Given the description of an element on the screen output the (x, y) to click on. 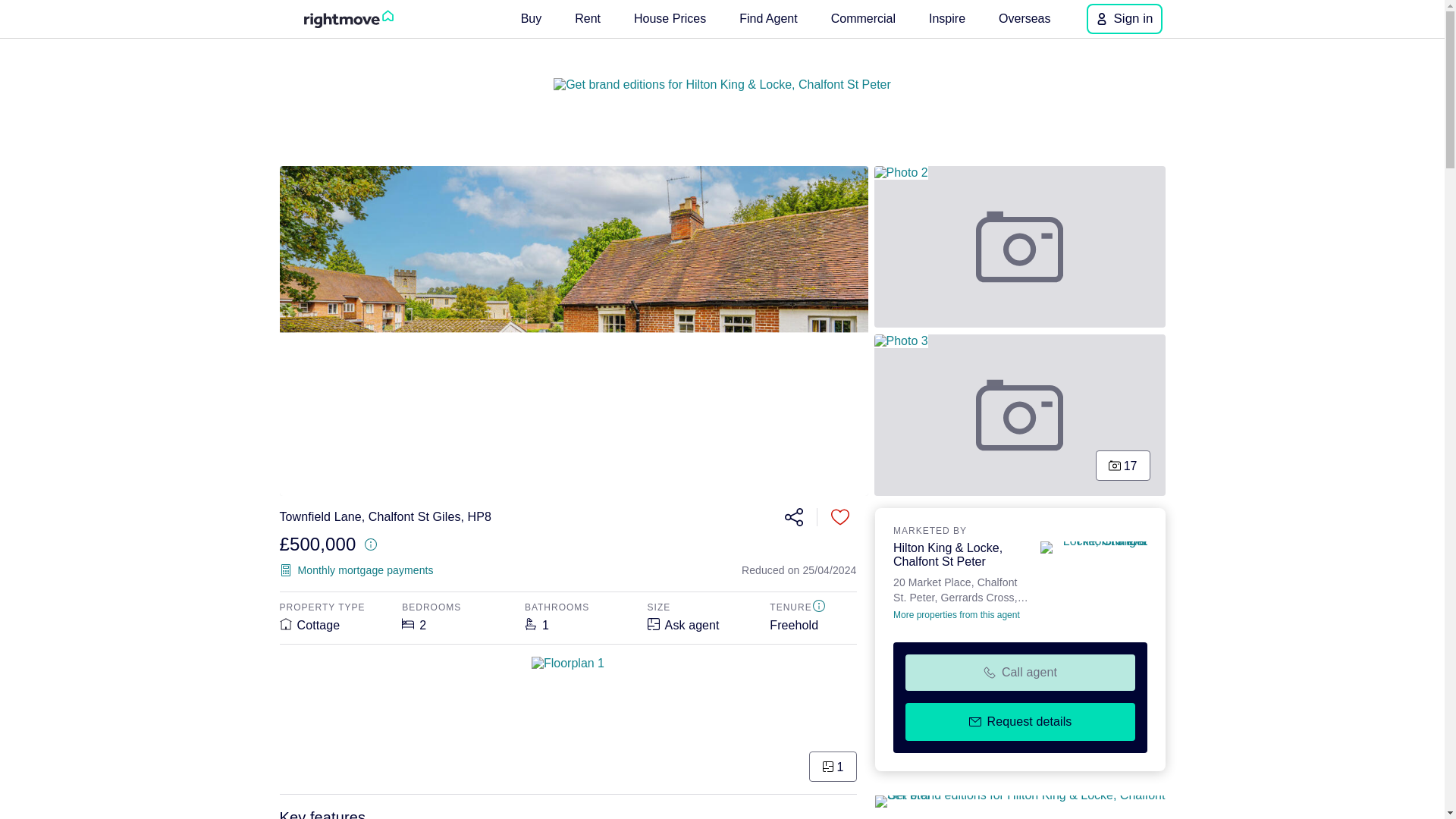
Inspire (947, 18)
Find Agent (768, 18)
Commercial (960, 588)
Photo 3 (863, 18)
Photo 1 (1020, 415)
Buy (792, 516)
House Prices (531, 18)
Photo 2 (669, 18)
Save this property (1020, 246)
Rent (840, 516)
Overseas (588, 18)
